Given the description of an element on the screen output the (x, y) to click on. 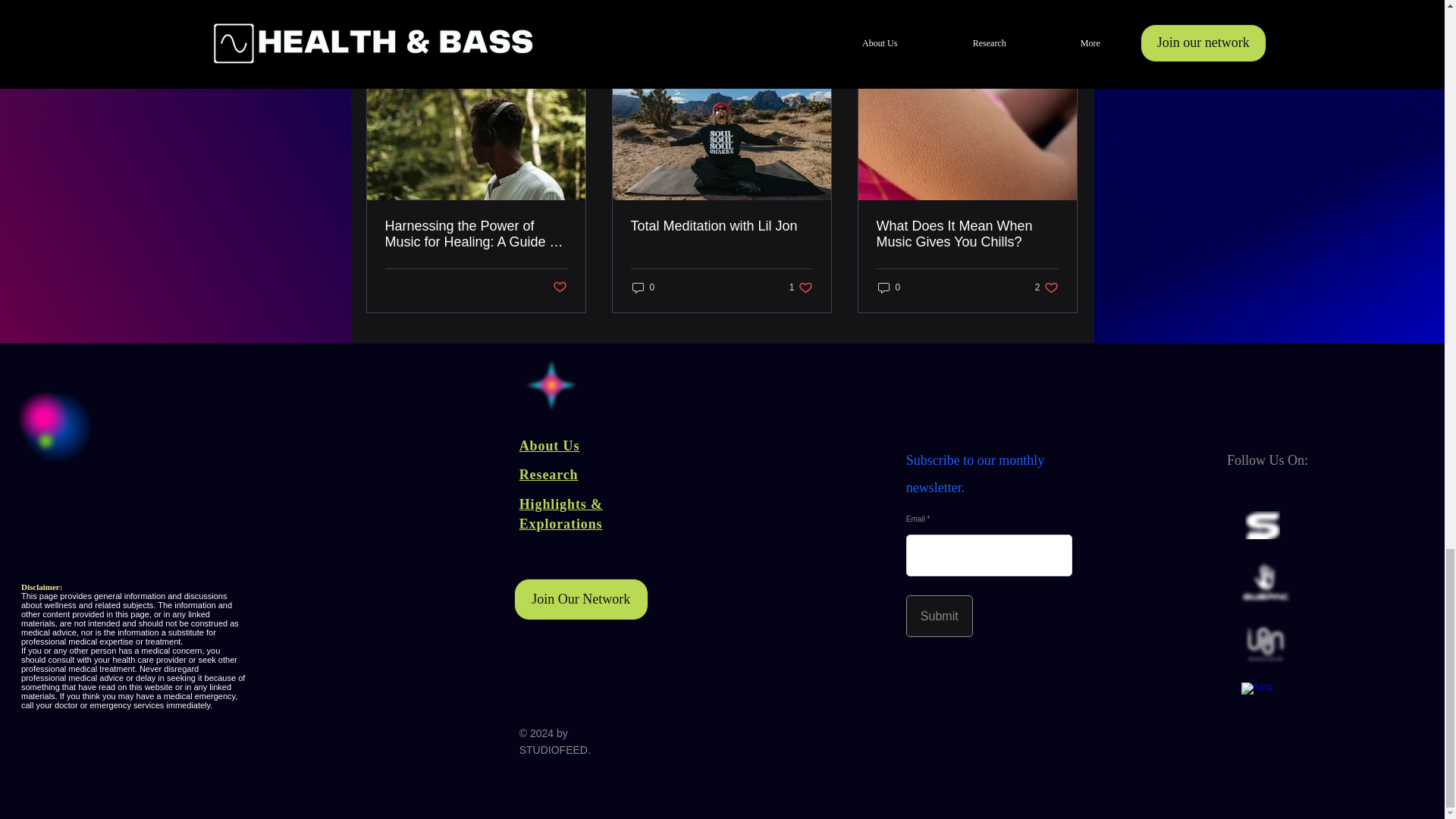
About Us (549, 445)
0 (889, 287)
0 (1046, 287)
Total Meditation with Lil Jon (643, 287)
Research (721, 226)
Join Our Network (548, 474)
What Does It Mean When Music Gives You Chills? (580, 598)
See All (967, 234)
